Given the description of an element on the screen output the (x, y) to click on. 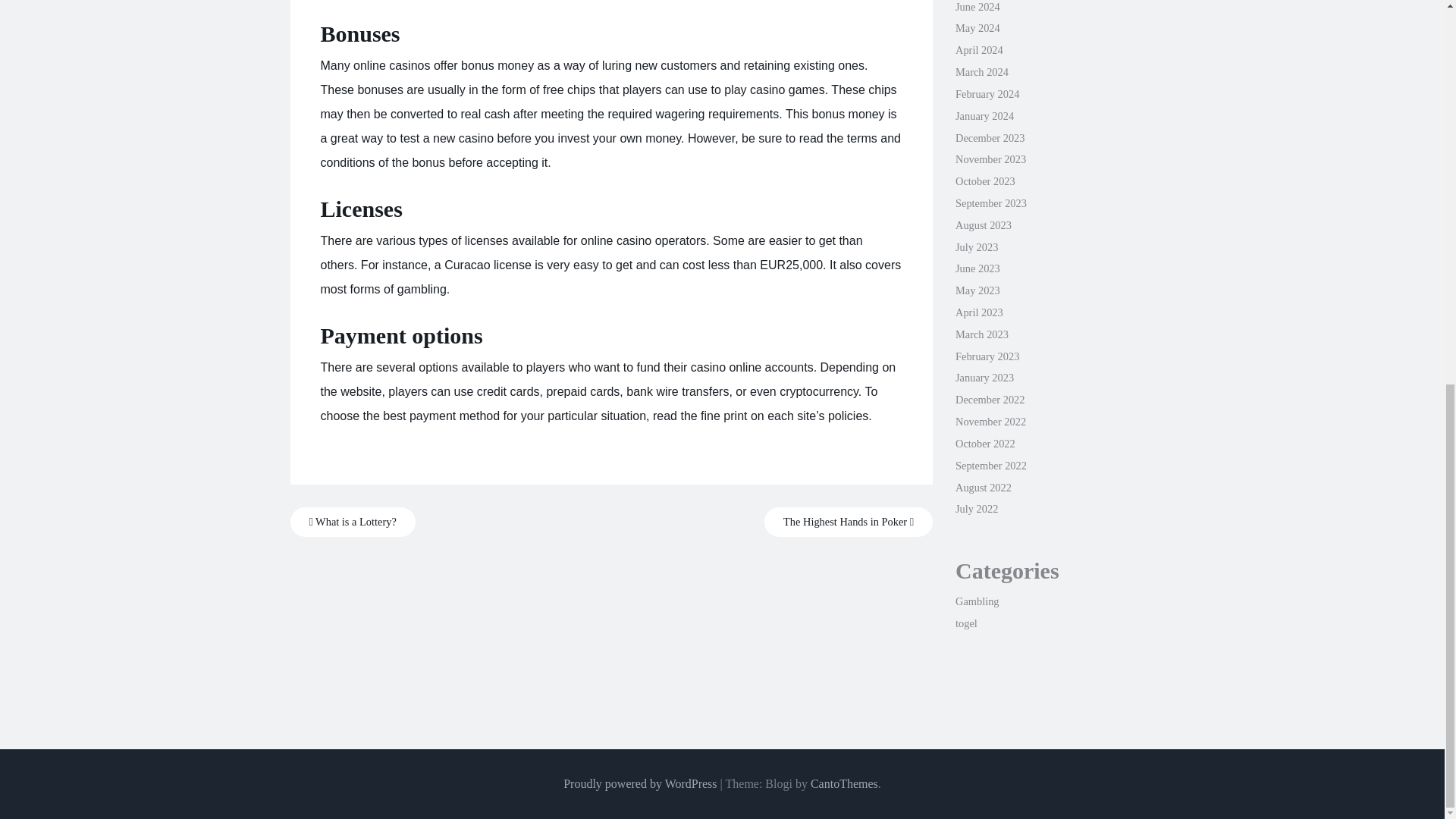
April 2023 (979, 312)
June 2023 (977, 268)
February 2024 (987, 93)
April 2024 (979, 50)
March 2023 (982, 334)
September 2022 (990, 465)
The Highest Hands in Poker (848, 521)
June 2024 (977, 6)
What is a Lottery? (351, 521)
May 2023 (977, 290)
December 2023 (990, 137)
March 2024 (982, 71)
December 2022 (990, 399)
July 2022 (976, 508)
May 2024 (977, 28)
